Given the description of an element on the screen output the (x, y) to click on. 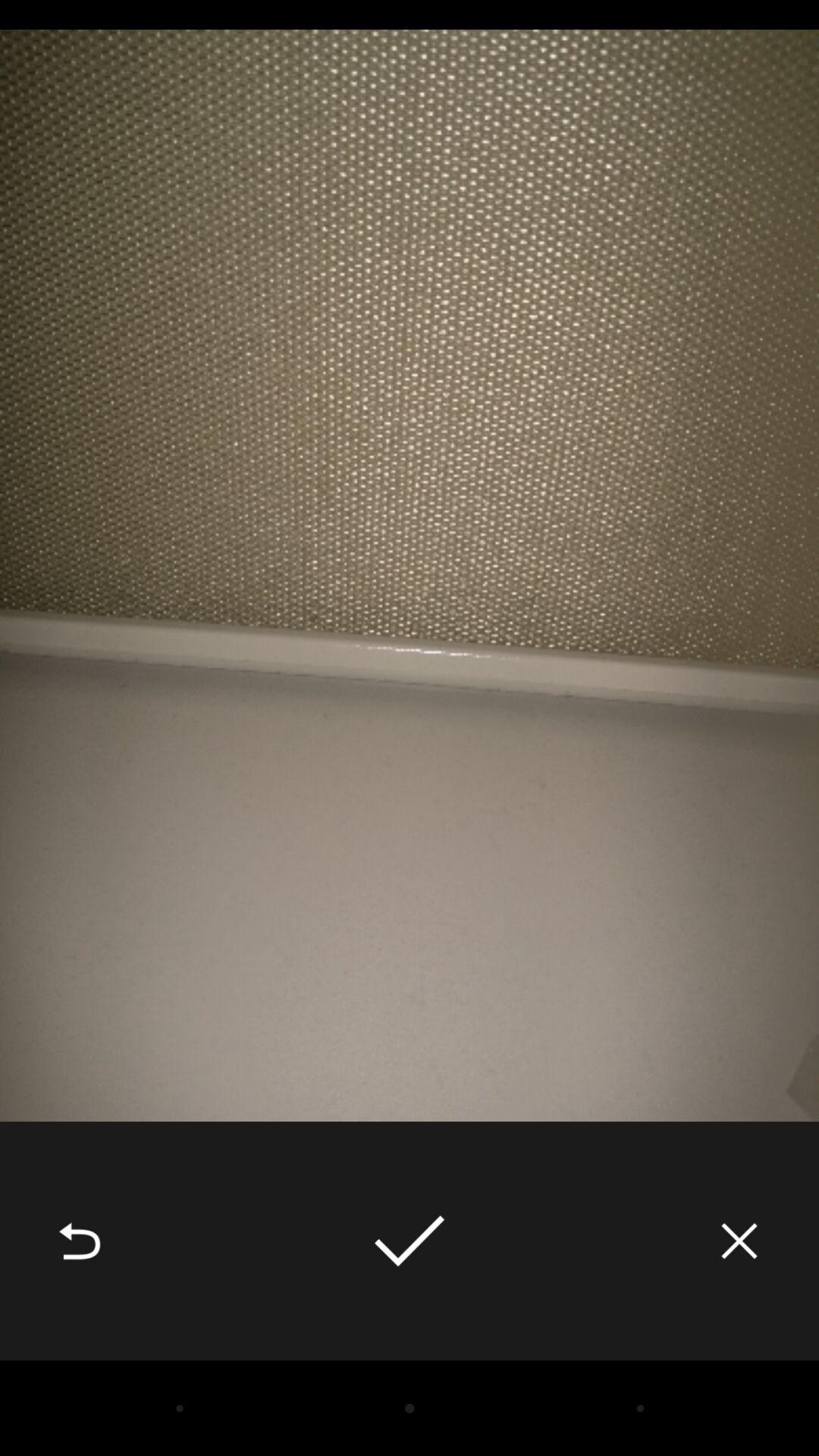
select icon at the bottom right corner (739, 1240)
